Given the description of an element on the screen output the (x, y) to click on. 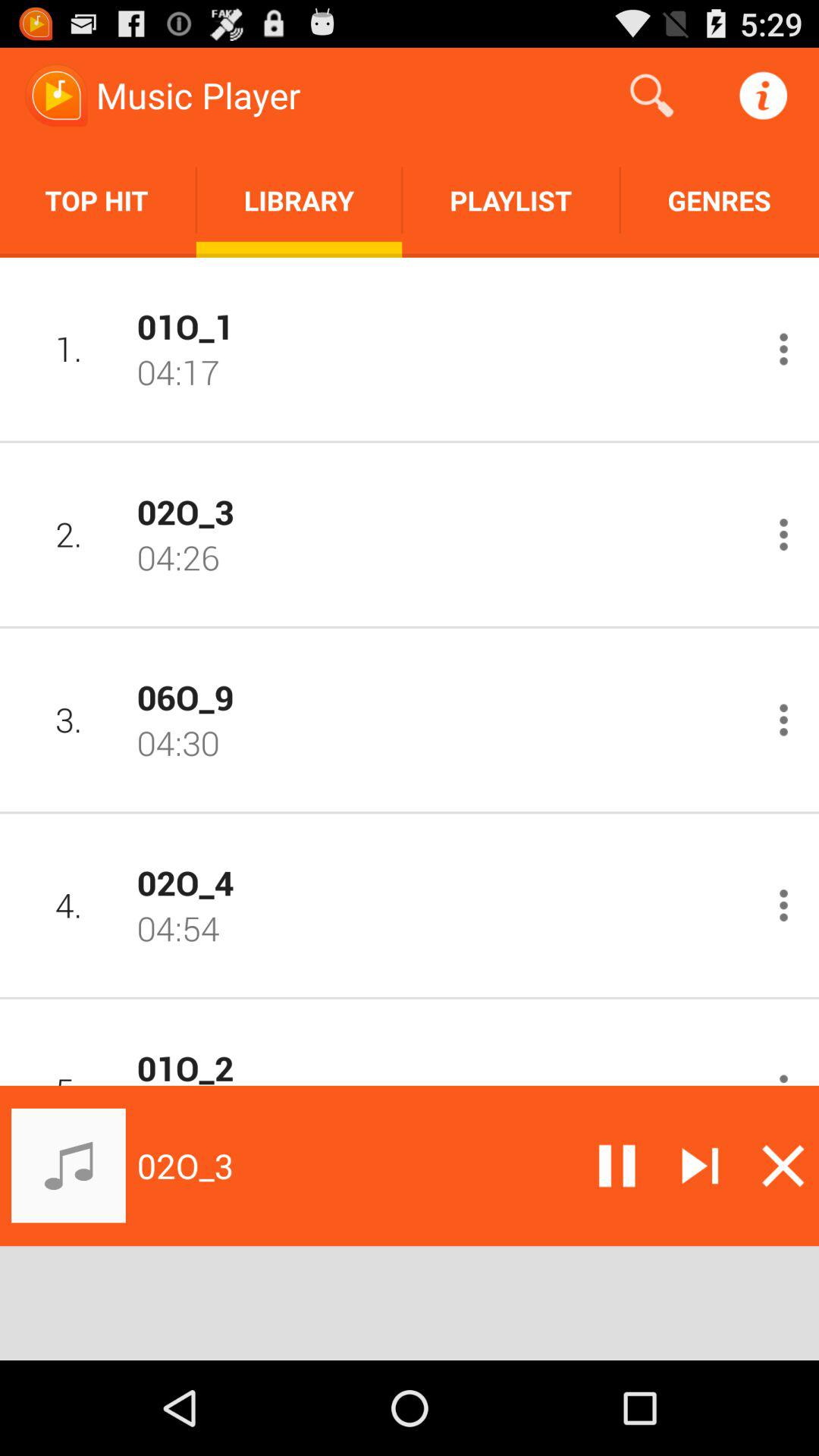
play song (699, 1165)
